Given the description of an element on the screen output the (x, y) to click on. 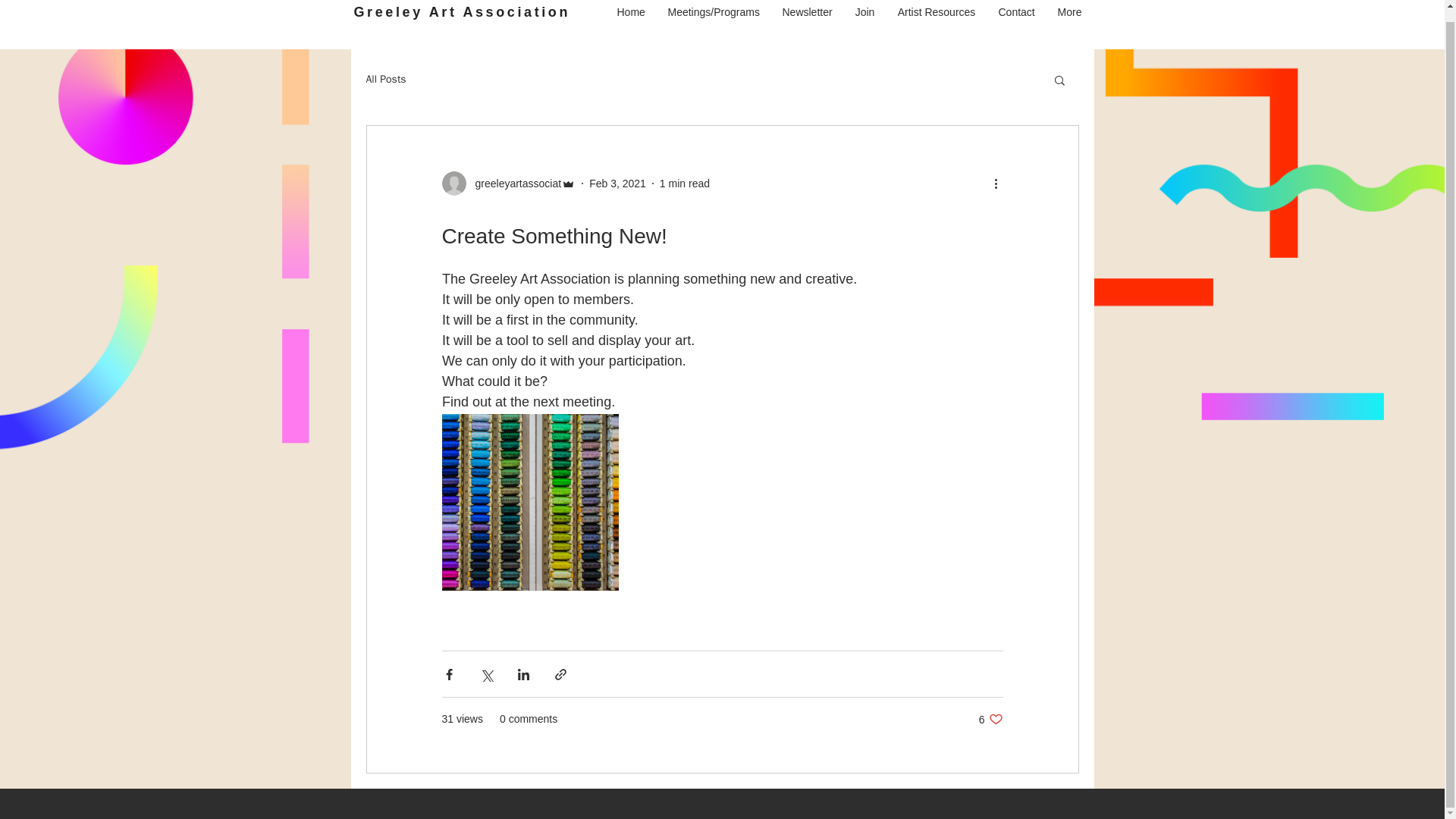
All Posts (385, 79)
Feb 3, 2021 (617, 182)
Artist Resources (936, 11)
Contact (1016, 11)
Greeley Art Association (461, 11)
greeleyartassociat (990, 718)
Home (508, 183)
Join (630, 11)
Newsletter (864, 11)
